Given the description of an element on the screen output the (x, y) to click on. 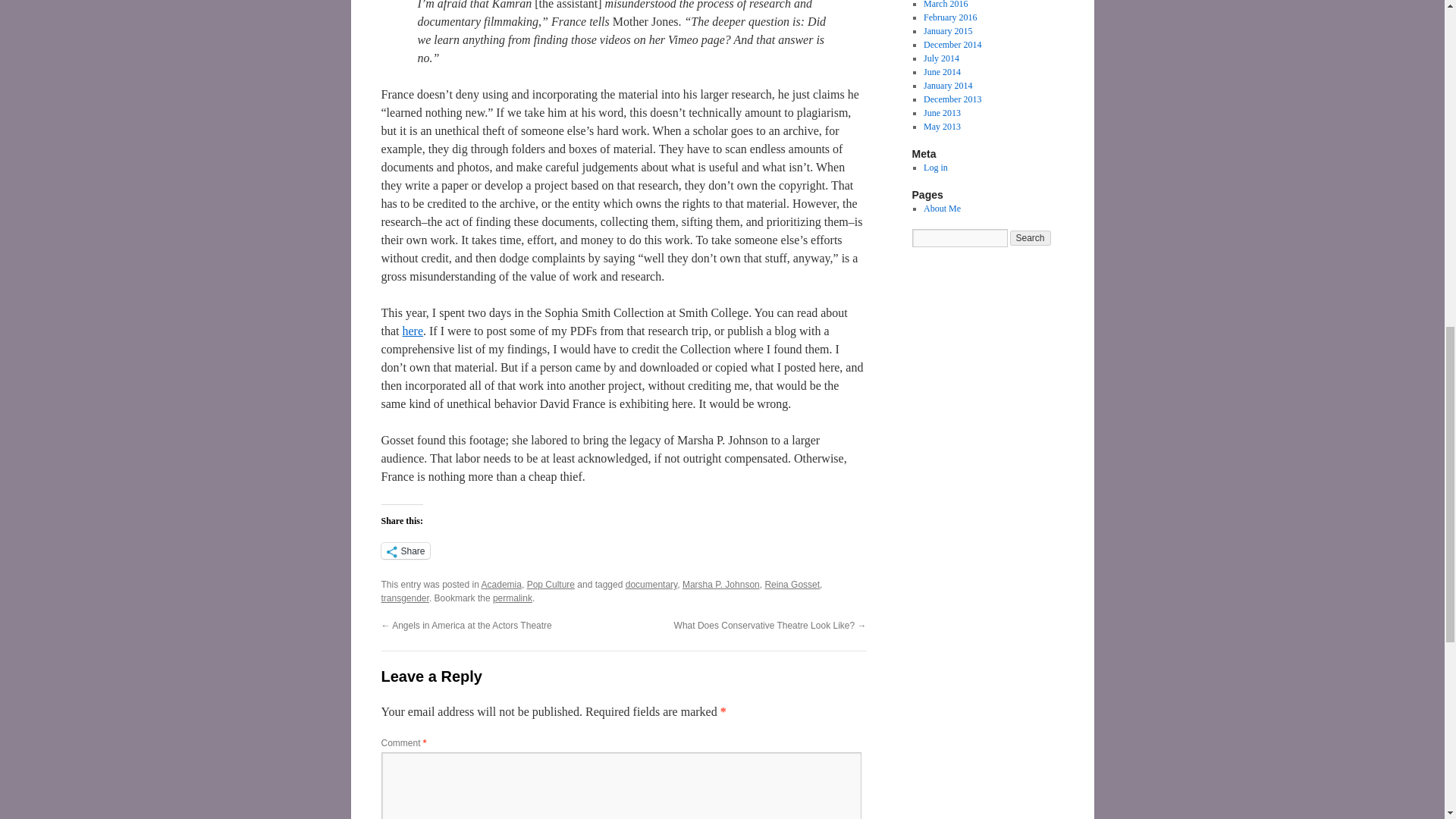
documentary (651, 584)
Pop Culture (551, 584)
Academia (501, 584)
Permalink to The Theft of Marsha P. Johnson (512, 597)
Search (1030, 237)
Reina Gosset (791, 584)
Marsha P. Johnson (721, 584)
here (412, 330)
transgender (404, 597)
permalink (512, 597)
